Given the description of an element on the screen output the (x, y) to click on. 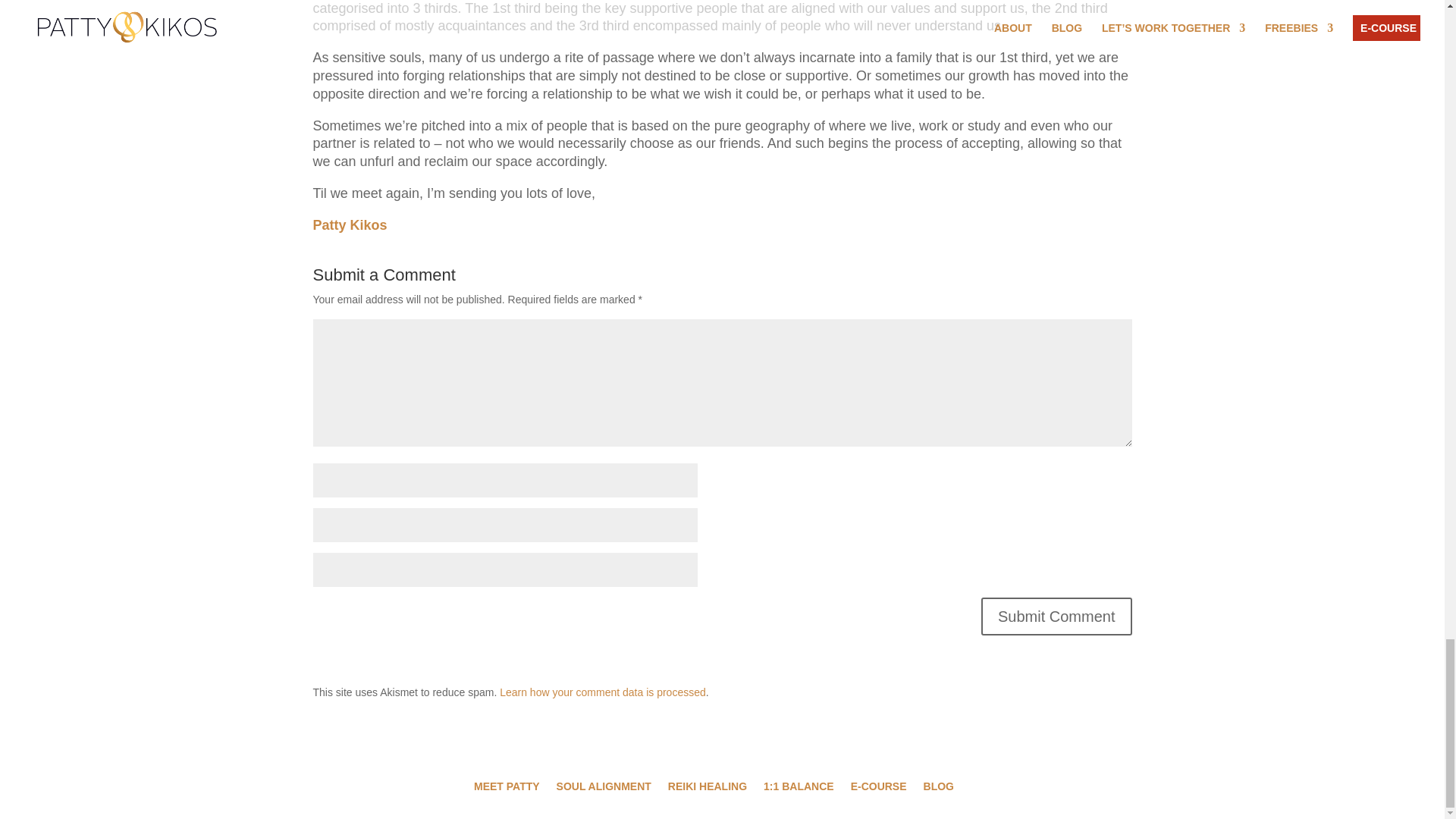
Submit Comment (1056, 616)
